Given the description of an element on the screen output the (x, y) to click on. 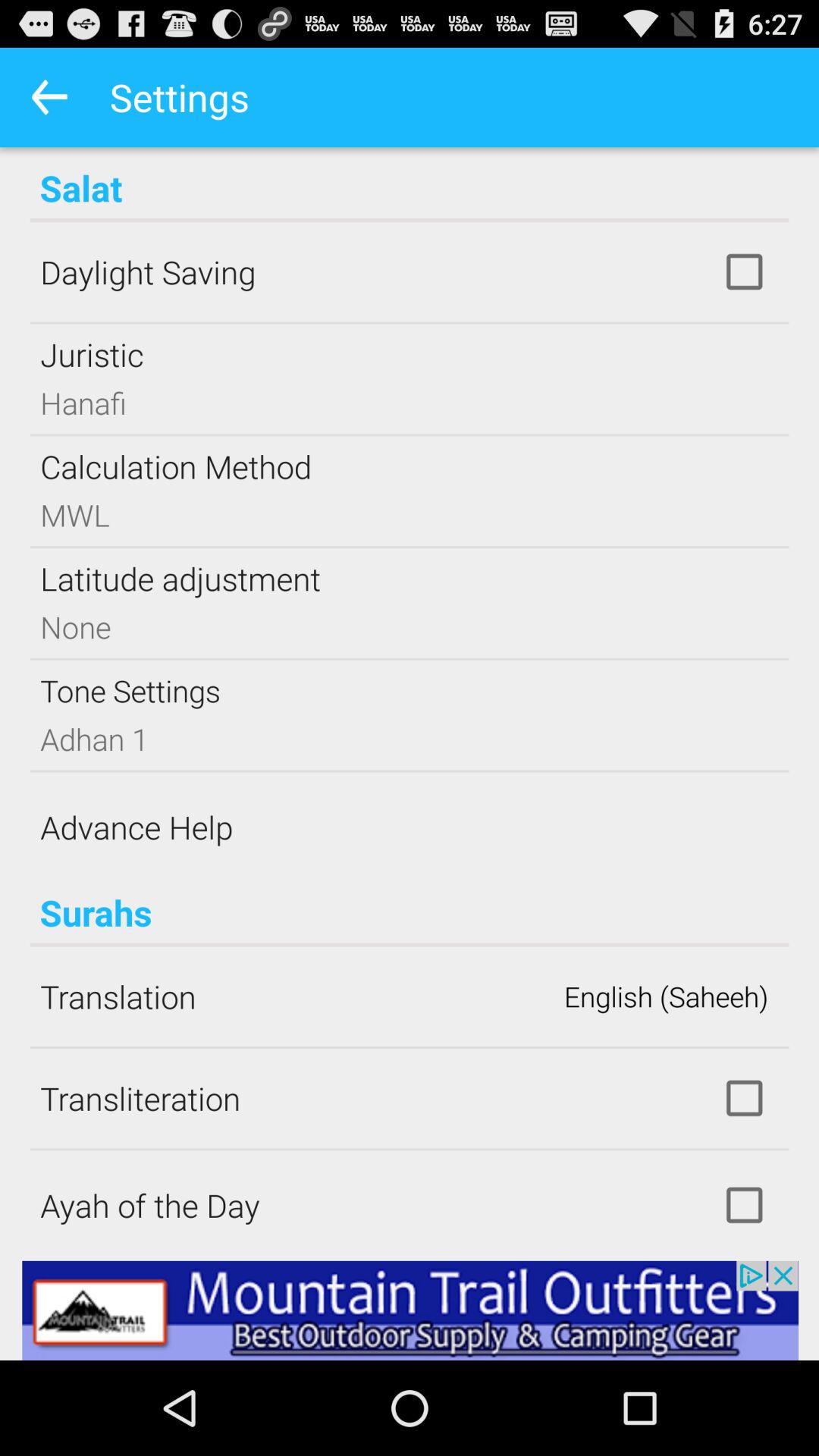
advertisement banner (409, 1310)
